Given the description of an element on the screen output the (x, y) to click on. 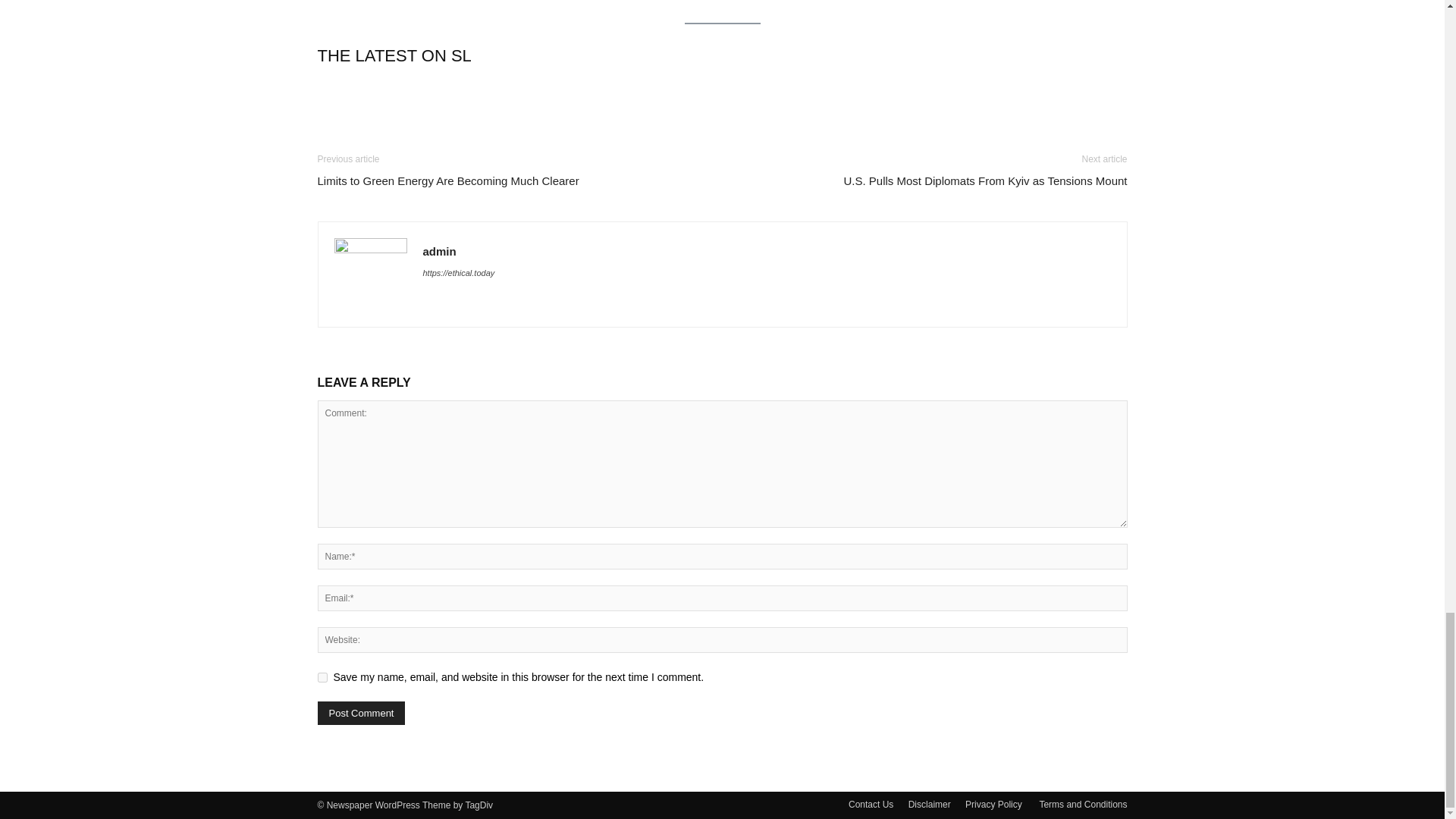
yes (321, 677)
Post Comment (360, 712)
